Given the description of an element on the screen output the (x, y) to click on. 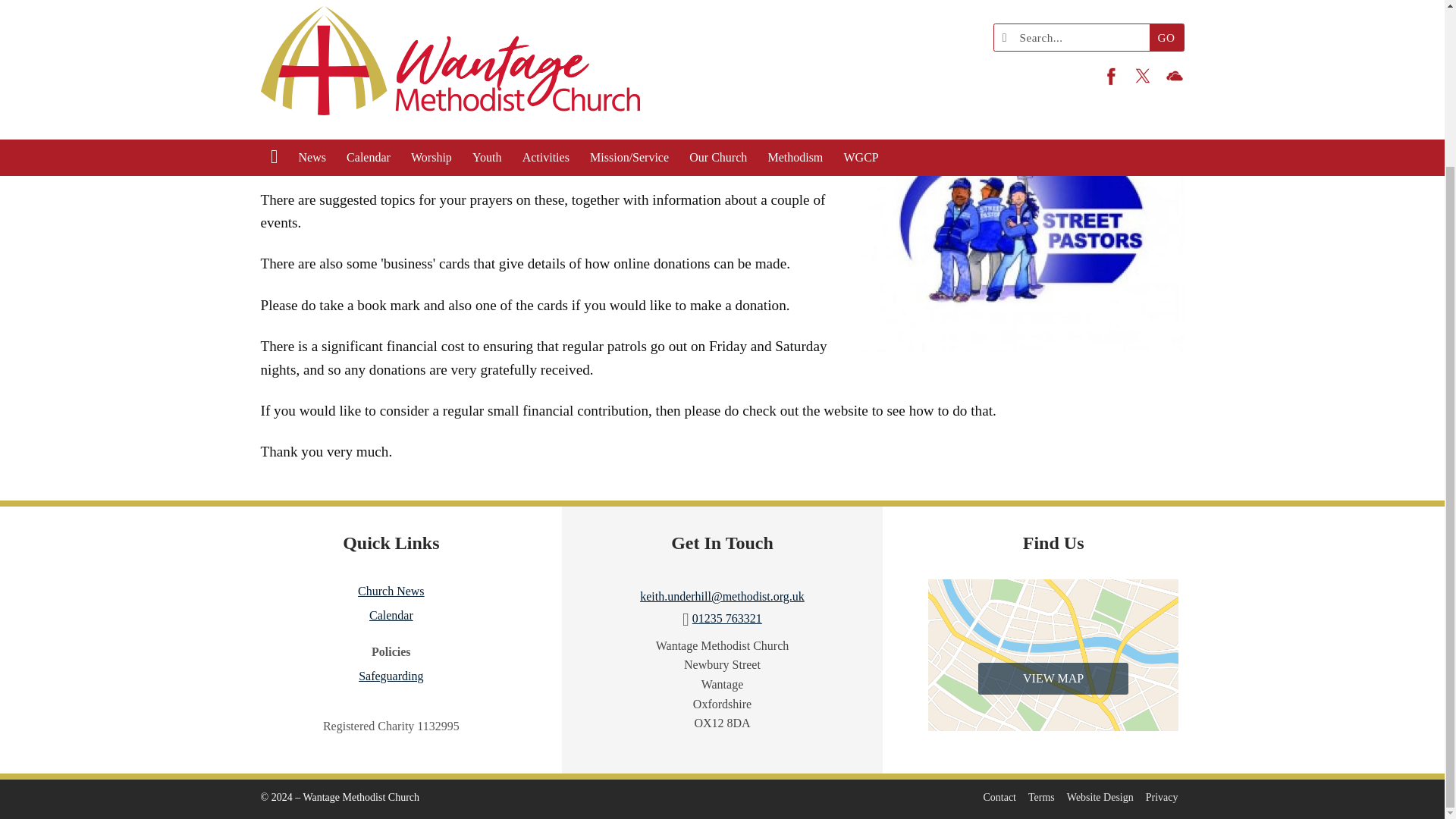
Call now (727, 617)
